Given the description of an element on the screen output the (x, y) to click on. 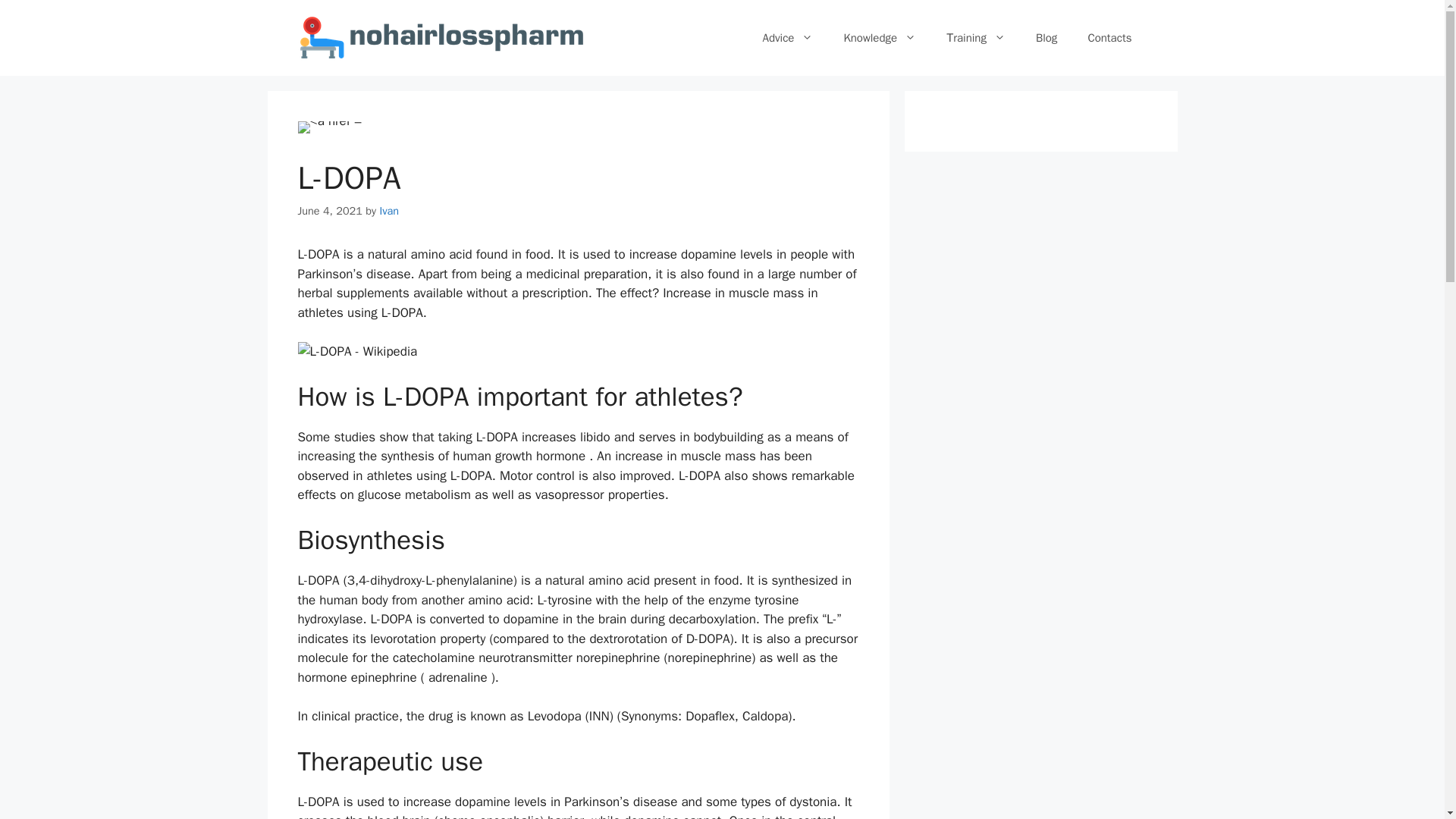
Ivan (388, 210)
Blog (1045, 37)
Contacts (1109, 37)
View all posts by Ivan (388, 210)
Advice (787, 37)
Knowledge (879, 37)
